Given the description of an element on the screen output the (x, y) to click on. 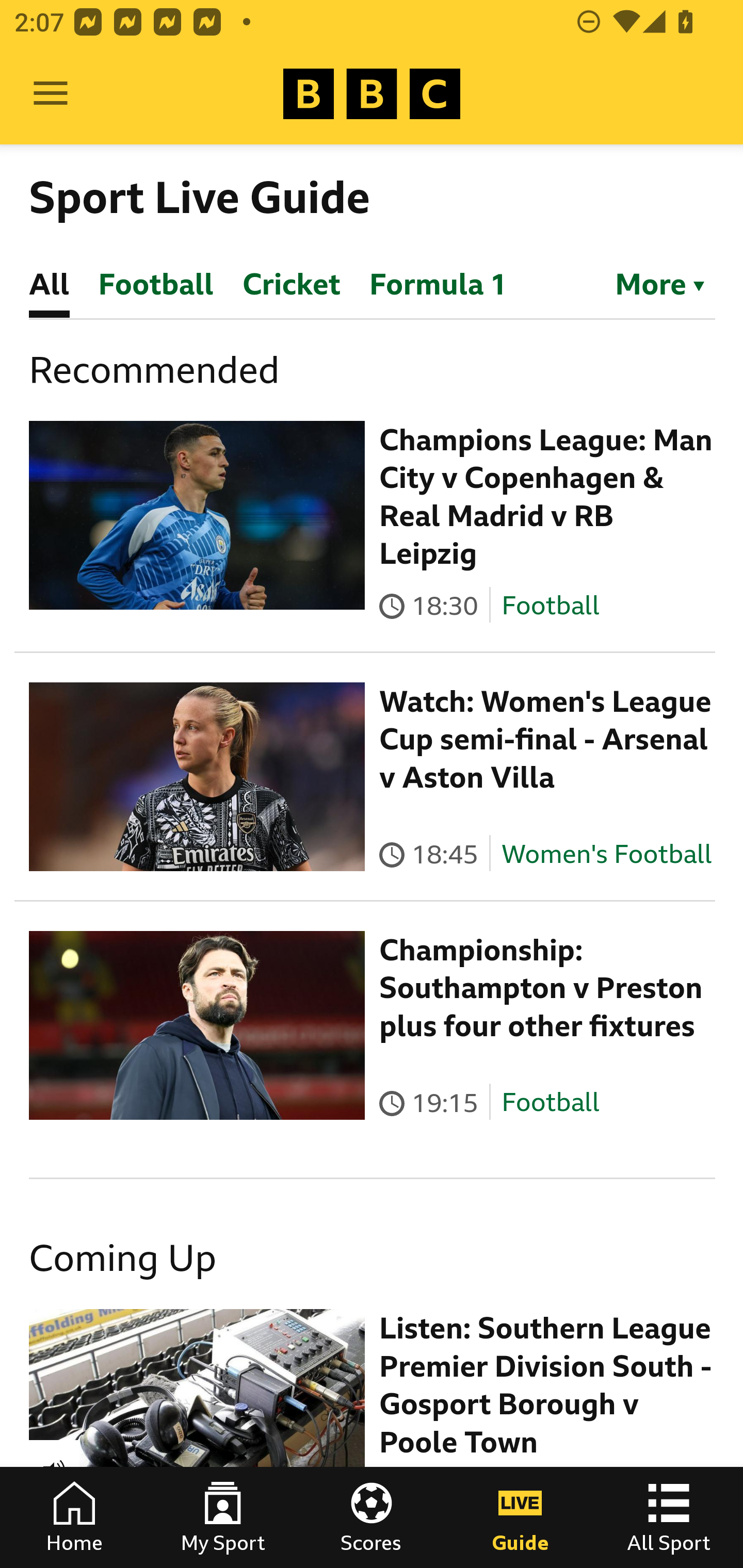
Open Menu (50, 93)
Football (550, 604)
Women's Football (606, 853)
Football (550, 1102)
Home (74, 1517)
My Sport (222, 1517)
Scores (371, 1517)
All Sport (668, 1517)
